Given the description of an element on the screen output the (x, y) to click on. 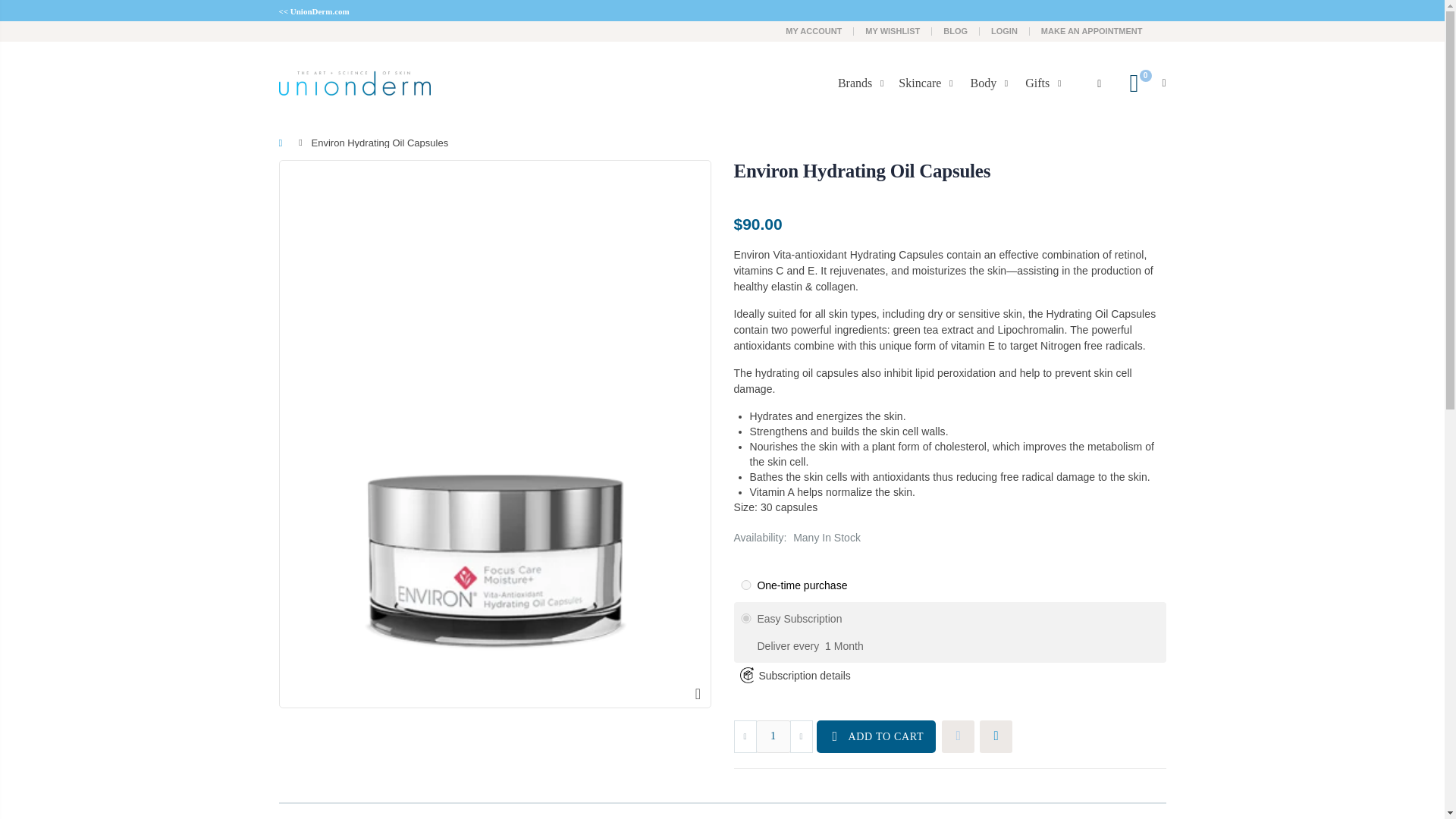
Skincare (928, 83)
Add to wishlist (958, 736)
Add to compare (995, 736)
Brands (864, 83)
MY WISHLIST (892, 30)
1 (772, 736)
onetime (745, 584)
MY ACCOUNT (813, 30)
MAKE AN APPOINTMENT (1091, 30)
LOGIN (1004, 30)
Back to the frontpage (284, 143)
autodeliver (745, 618)
BLOG (955, 30)
